Given the description of an element on the screen output the (x, y) to click on. 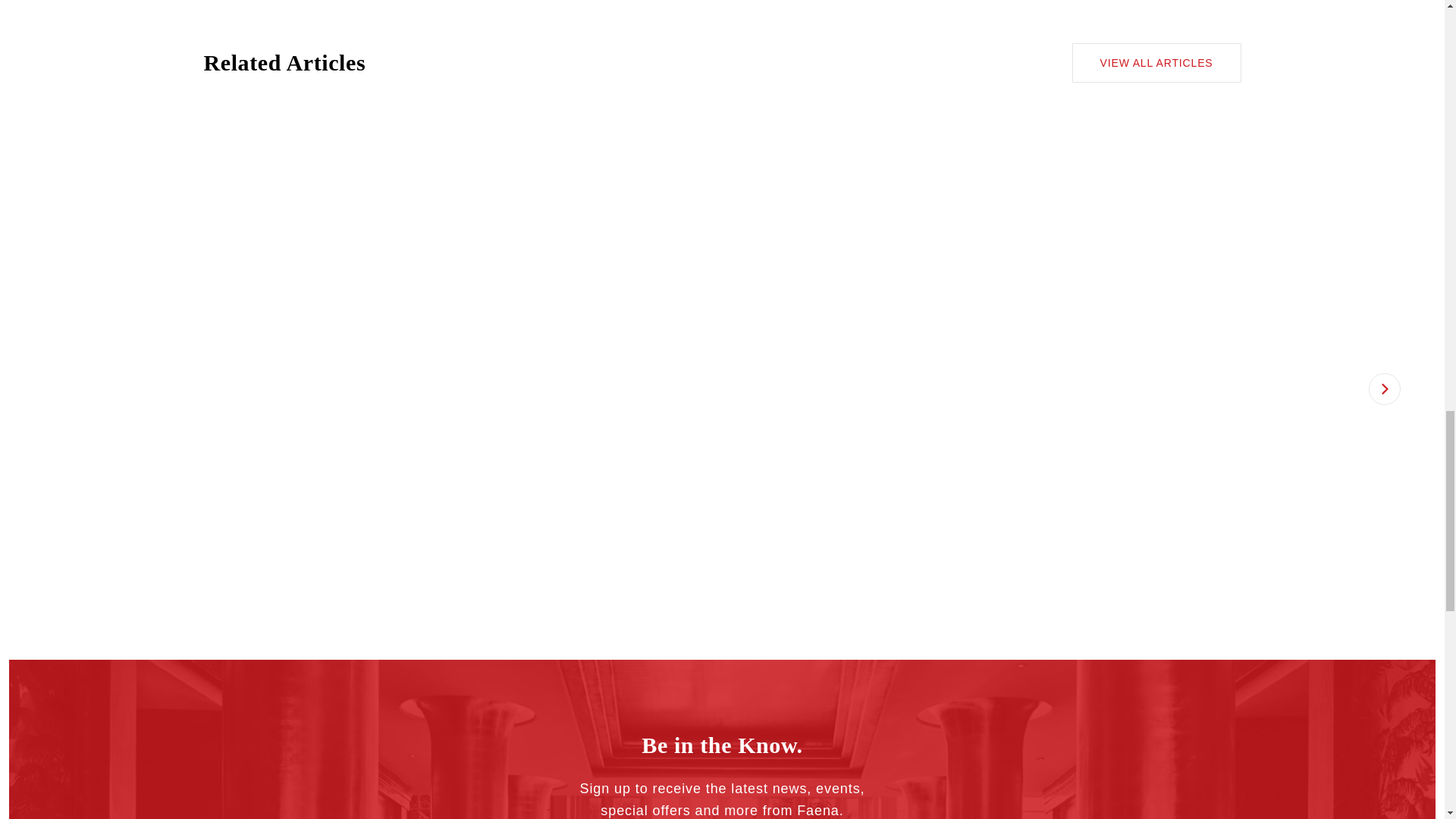
next (1383, 387)
VIEW ALL ARTICLES (1156, 62)
